Given the description of an element on the screen output the (x, y) to click on. 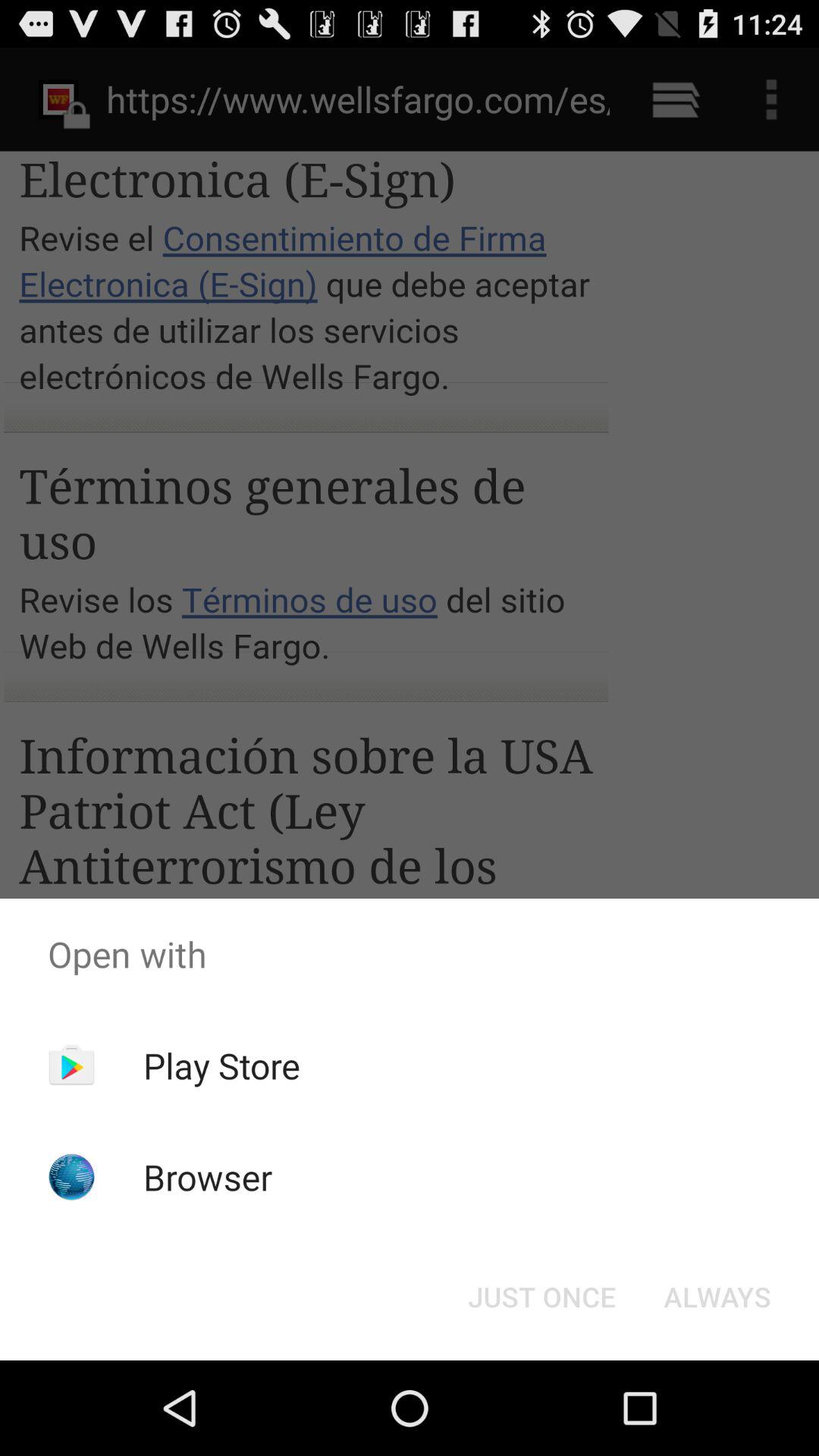
flip to the just once item (541, 1296)
